Given the description of an element on the screen output the (x, y) to click on. 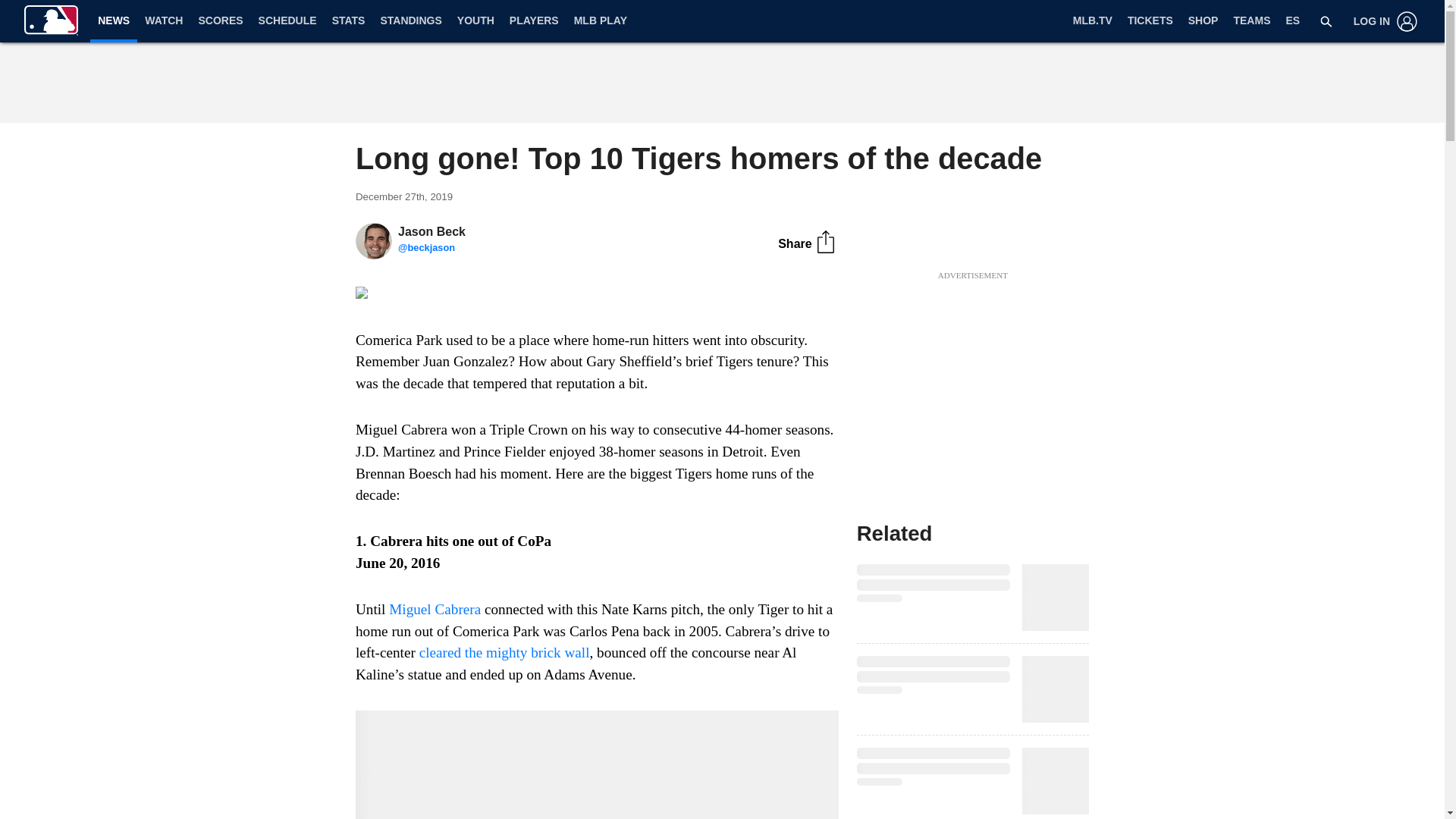
YOUTH (475, 21)
search-1 (1326, 21)
WATCH (163, 21)
STANDINGS (410, 21)
STATS (348, 21)
SCHEDULE (287, 21)
SCORES (220, 21)
NEWS (113, 19)
share-square-2 (825, 241)
